Given the description of an element on the screen output the (x, y) to click on. 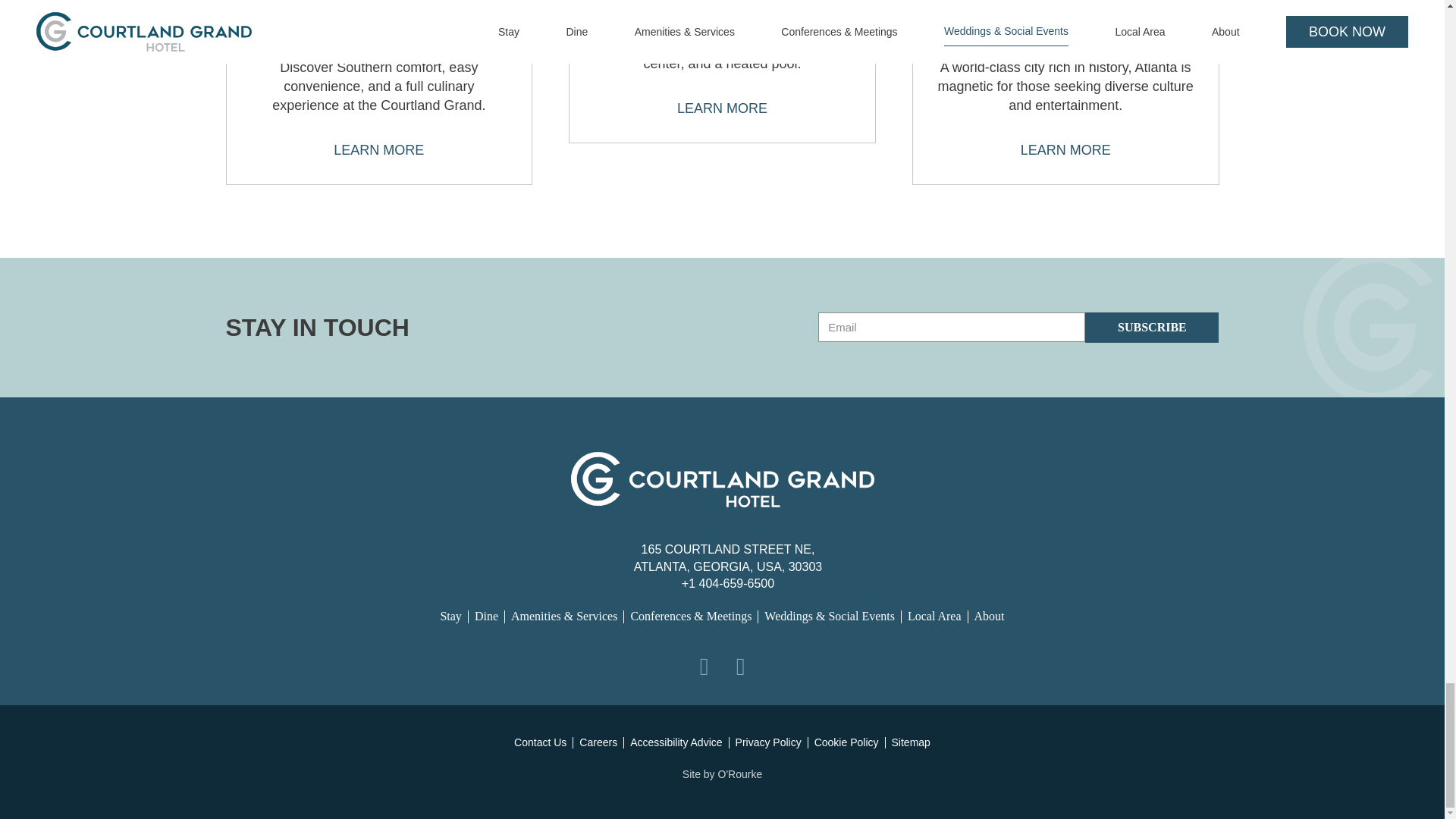
Subscribe (1151, 327)
